Given the description of an element on the screen output the (x, y) to click on. 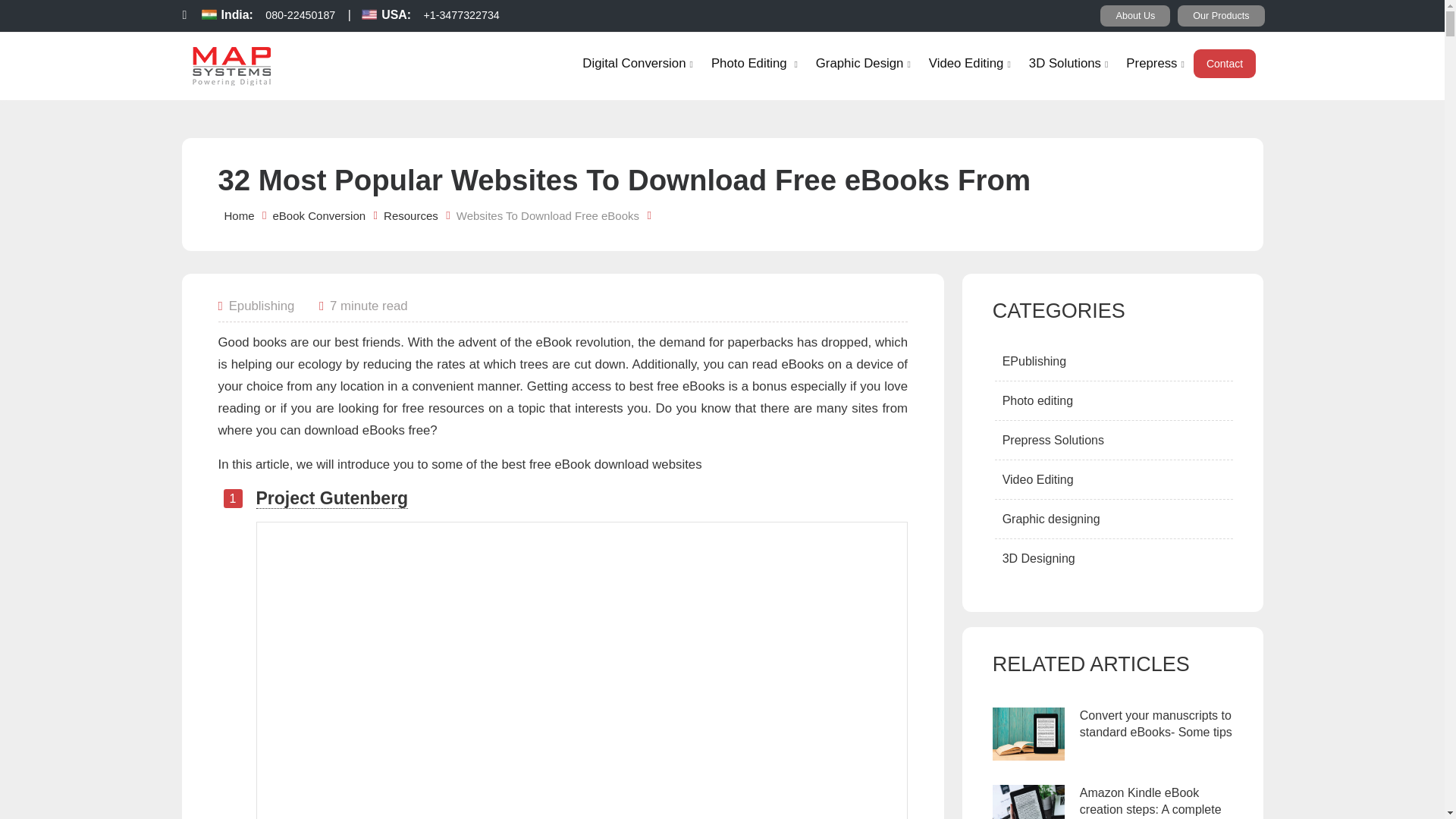
Digital Conversion (637, 62)
Our Products (1220, 15)
About Us (1135, 15)
080-22450187 (299, 20)
Photo Editing (753, 62)
